Given the description of an element on the screen output the (x, y) to click on. 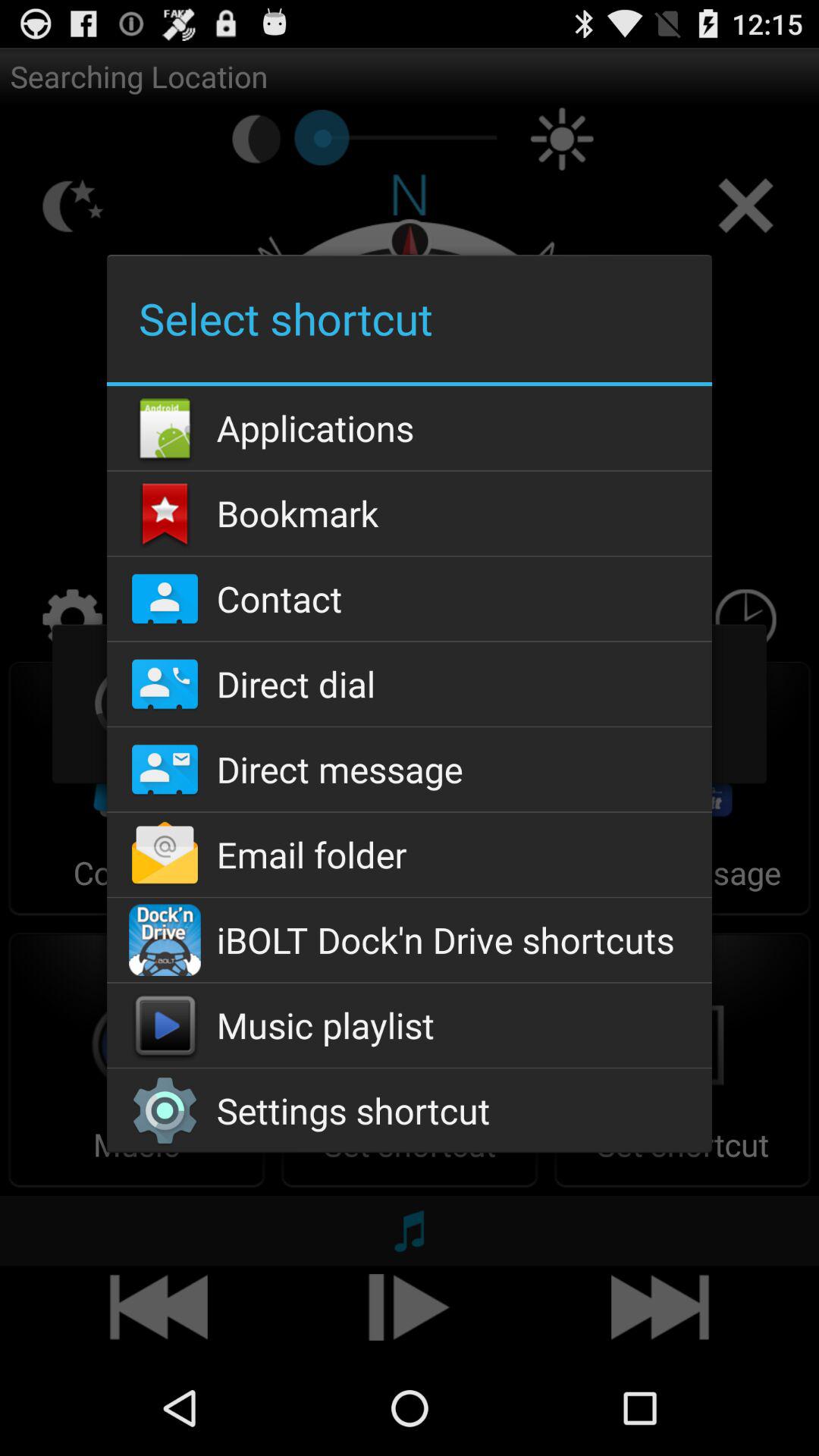
tap item below contact icon (409, 684)
